Given the description of an element on the screen output the (x, y) to click on. 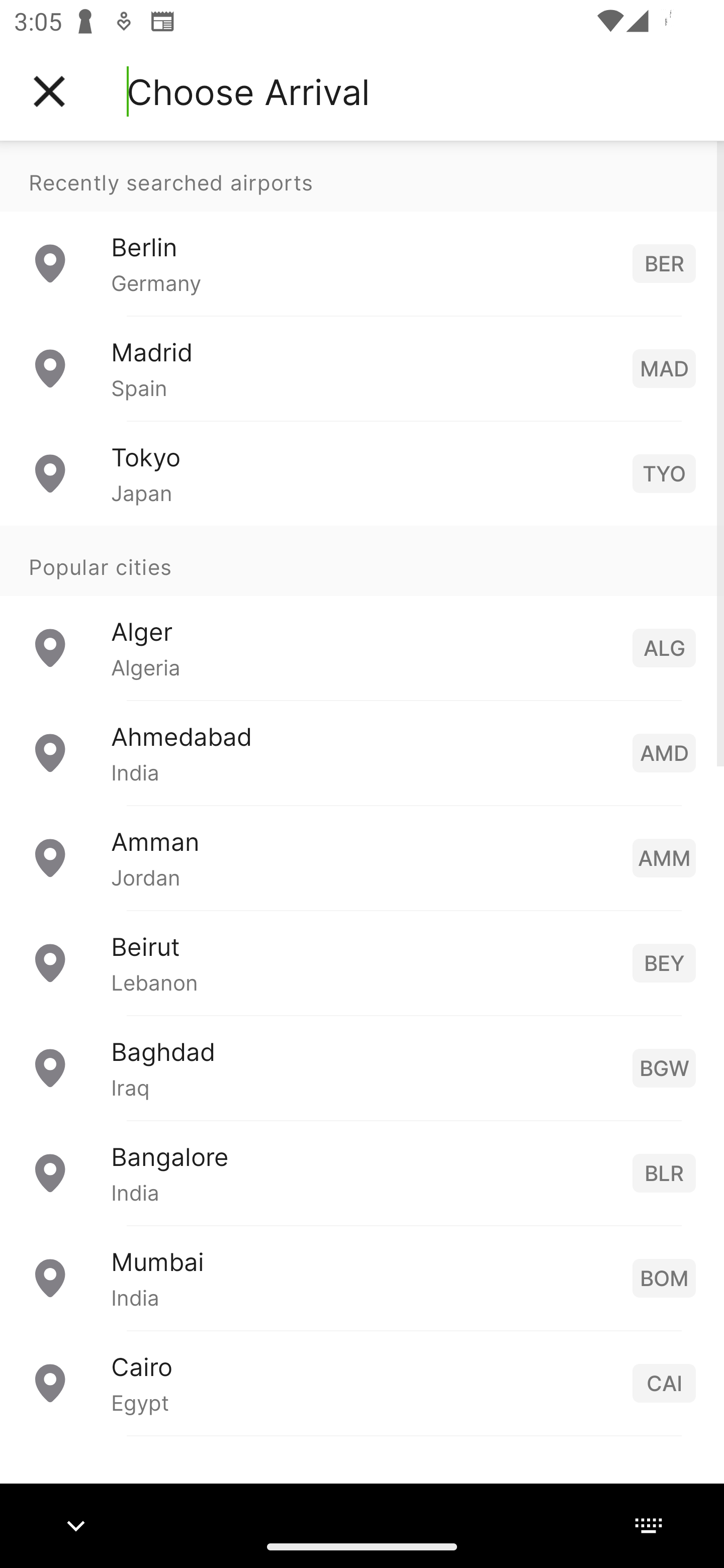
Choose Arrival (247, 91)
Recently searched airports Berlin Germany BER (362, 228)
Recently searched airports (362, 176)
Madrid Spain MAD (362, 367)
Tokyo Japan TYO (362, 472)
Popular cities Alger Algeria ALG (362, 612)
Popular cities (362, 560)
Ahmedabad India AMD (362, 751)
Amman Jordan AMM (362, 856)
Beirut Lebanon BEY (362, 961)
Baghdad Iraq BGW (362, 1066)
Bangalore India BLR (362, 1171)
Mumbai India BOM (362, 1276)
Cairo Egypt CAI (362, 1381)
